Given the description of an element on the screen output the (x, y) to click on. 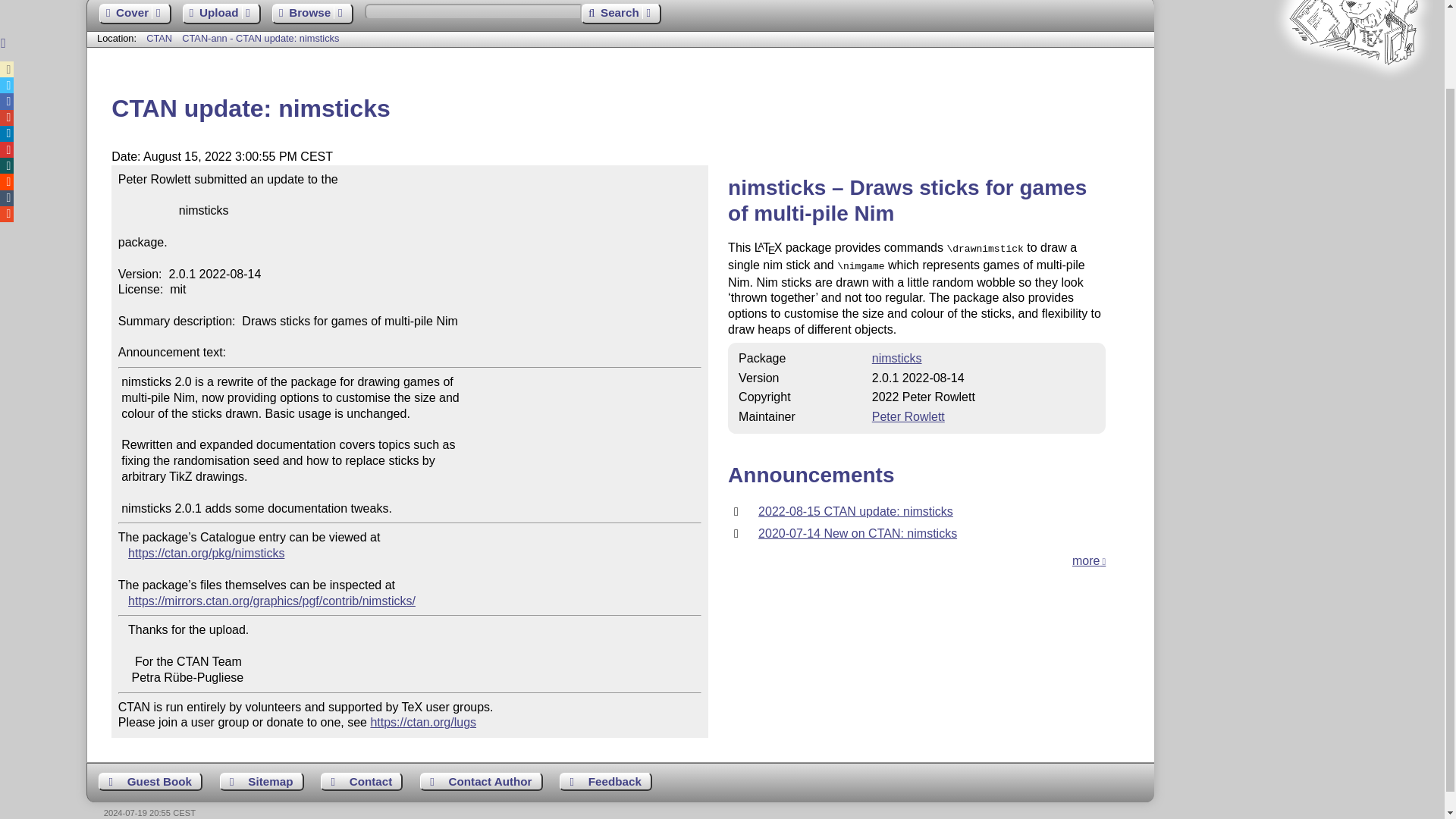
Get help on how to contact an author (481, 782)
Cover (134, 14)
2022-08-15 CTAN update: nimsticks (855, 511)
CTAN lion drawing by Duane Bibby (1353, 92)
Search (620, 14)
CTAN-ann - CTAN update: nimsticks (260, 38)
more (1088, 560)
Get contact information for the Web site (361, 782)
Show the structure of this site (261, 782)
CTAN (159, 38)
nimsticks (896, 358)
2020-07-14 New on CTAN: nimsticks (857, 533)
Upload (221, 14)
Peter Rowlett (908, 416)
Send feedback on the current web page to the Web masters (605, 782)
